Given the description of an element on the screen output the (x, y) to click on. 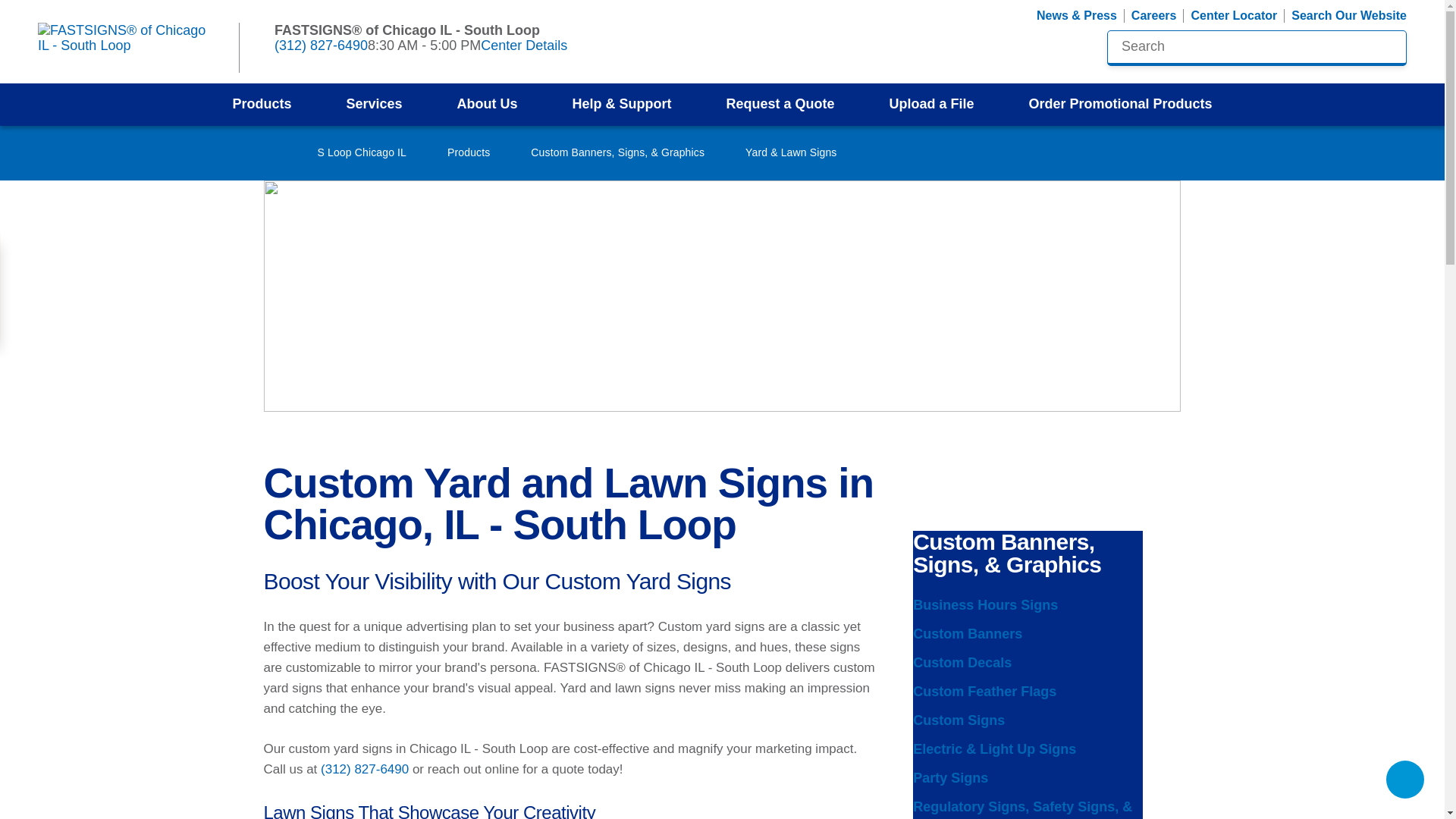
Center Details (530, 45)
